Given the description of an element on the screen output the (x, y) to click on. 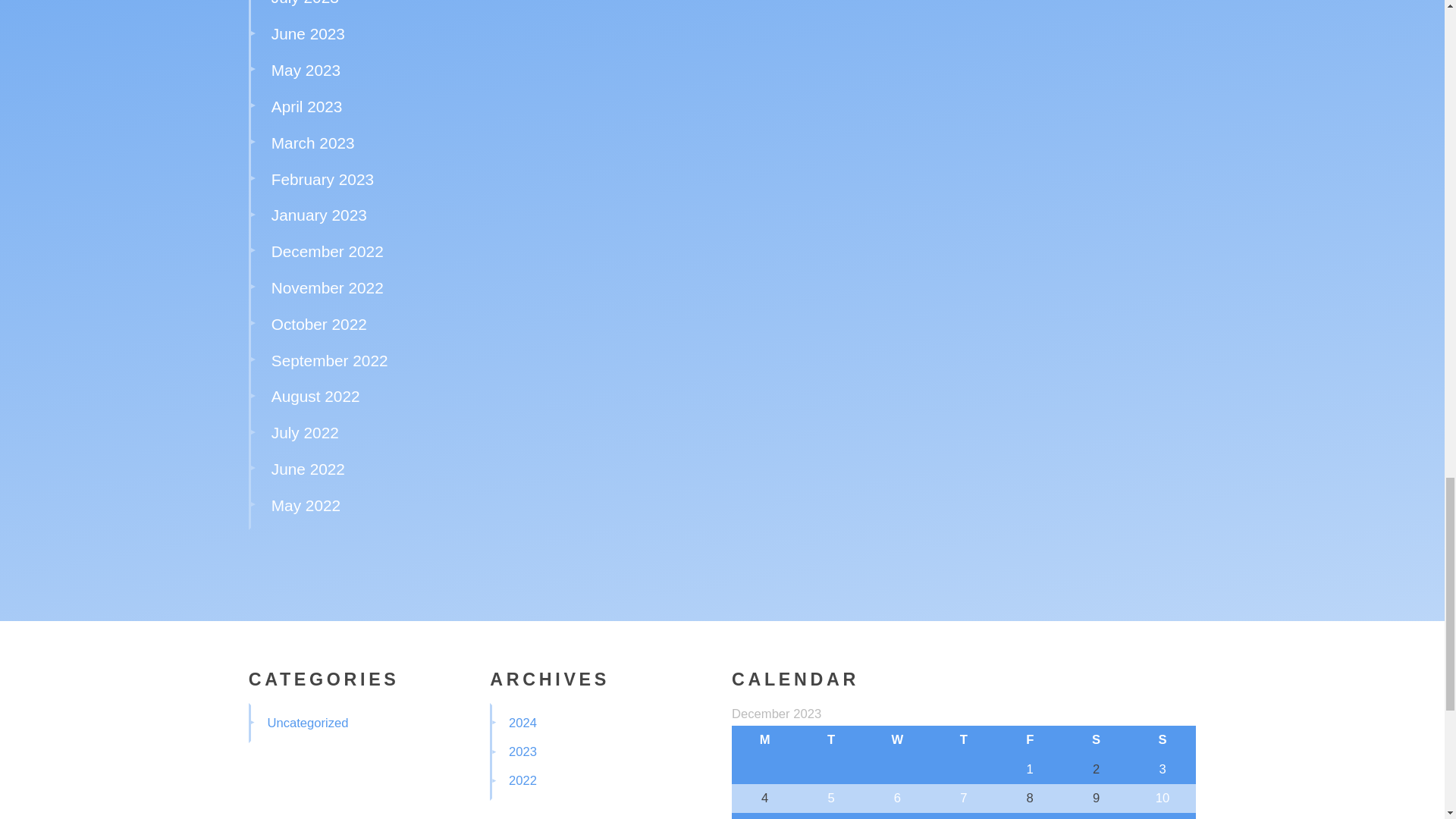
2023 (522, 751)
Friday (1029, 739)
Sunday (1162, 739)
July 2022 (304, 432)
Uncategorized (306, 722)
September 2022 (329, 360)
Saturday (1095, 739)
Monday (764, 739)
Tuesday (830, 739)
February 2023 (322, 178)
